Given the description of an element on the screen output the (x, y) to click on. 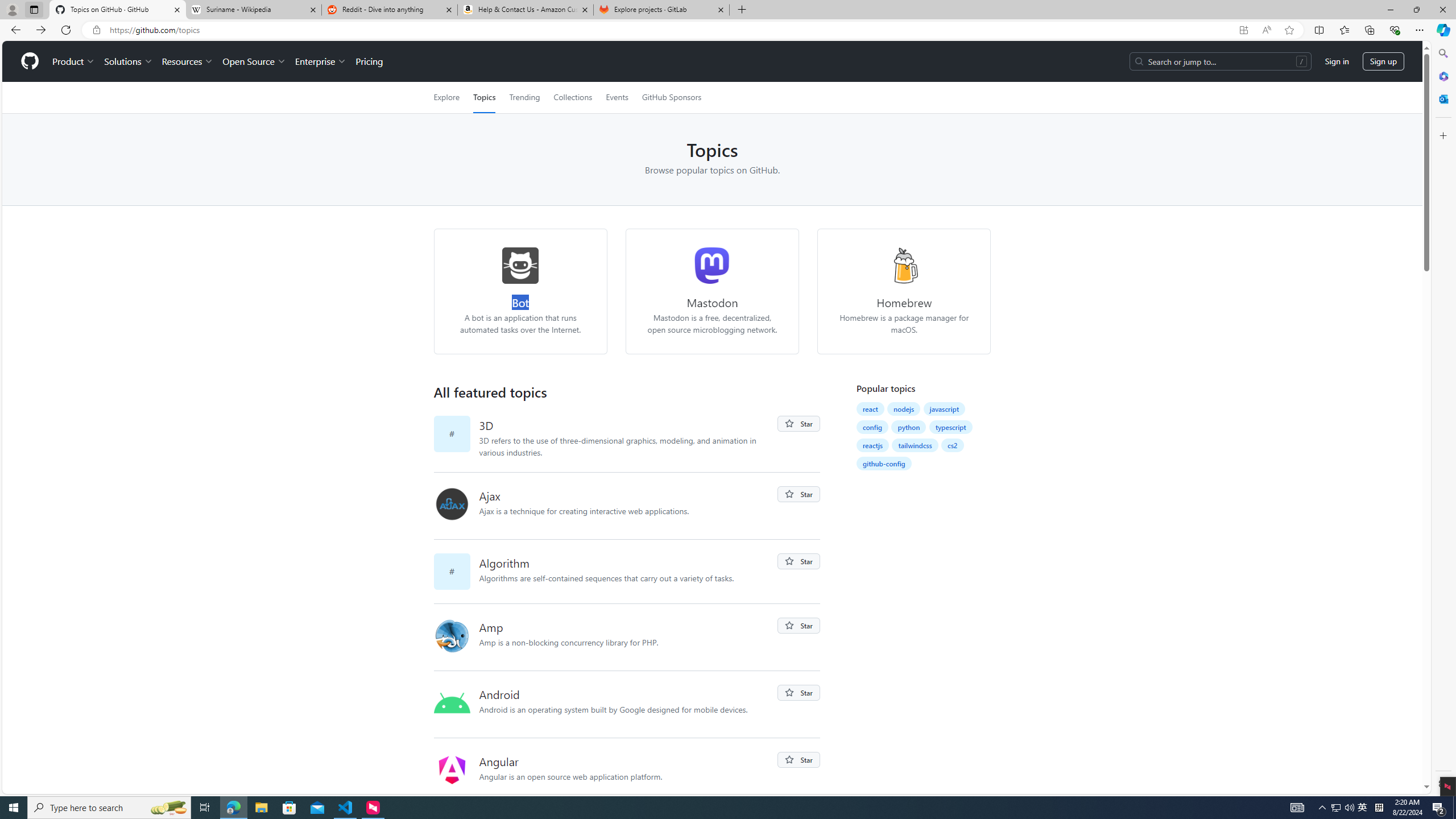
Suriname - Wikipedia (253, 9)
# (456, 571)
nodejs (903, 409)
